Given the description of an element on the screen output the (x, y) to click on. 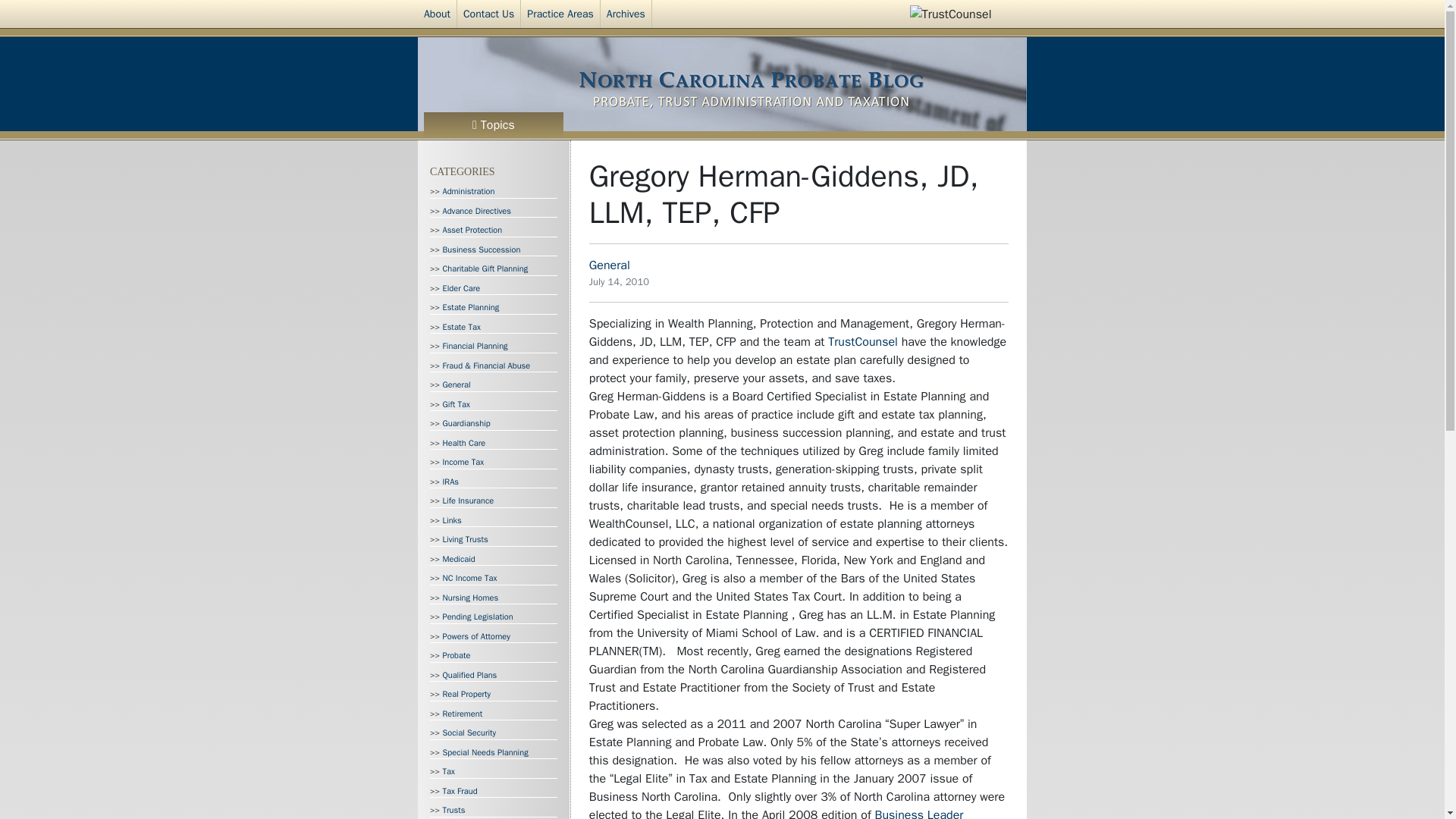
General (456, 384)
Medicaid (459, 558)
Advance Directives (477, 209)
Nursing Homes (470, 596)
Financial Planning (475, 345)
Estate Planning (470, 307)
Practice Areas (560, 13)
Gift Tax (456, 403)
Special Needs Planning (485, 751)
Trusts (453, 809)
IRAs (451, 480)
Elder Care (461, 286)
Pending Legislation (477, 615)
Income Tax (463, 461)
Contact Us (488, 13)
